Given the description of an element on the screen output the (x, y) to click on. 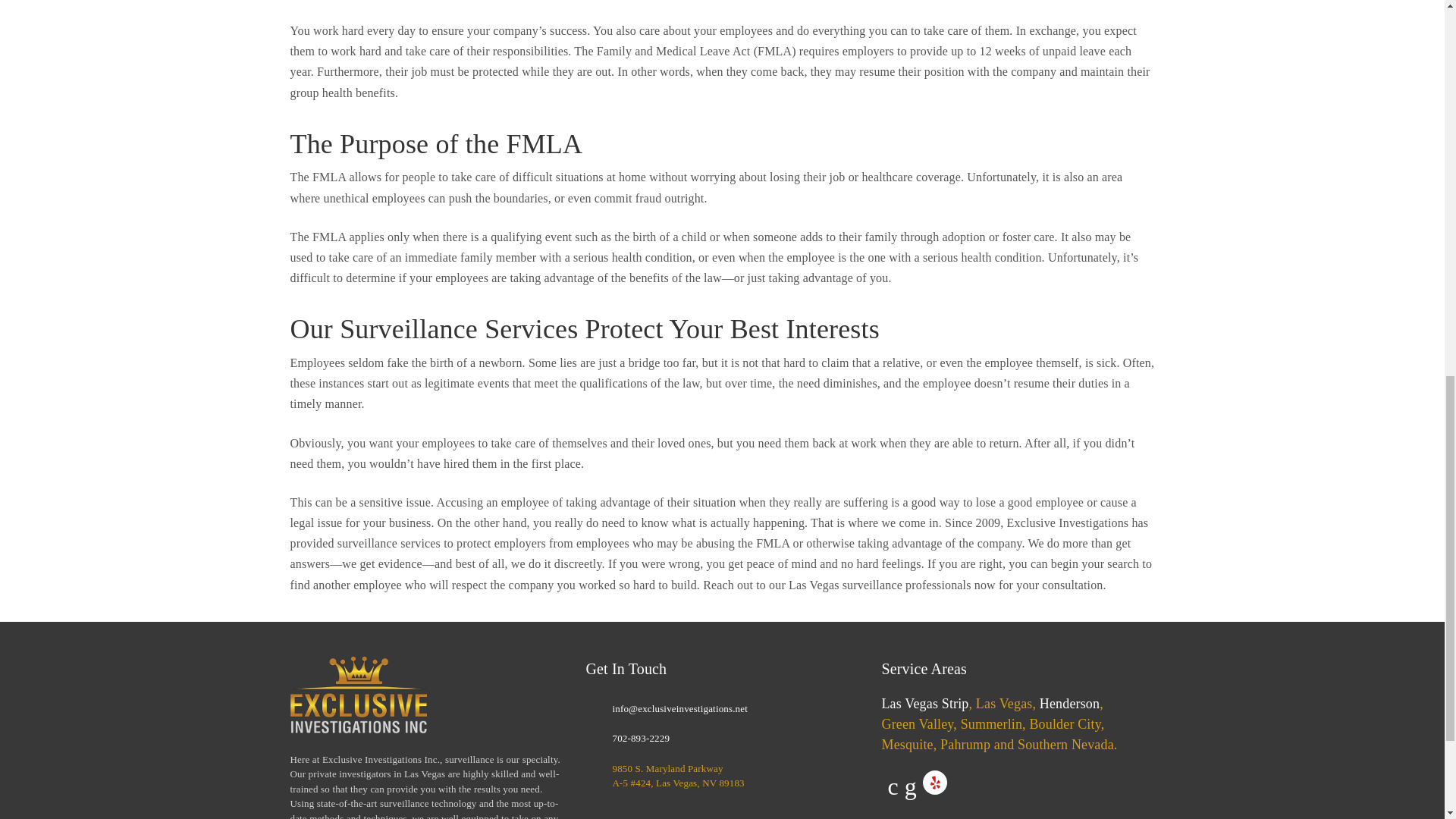
Las Vegas Strip (924, 703)
702-893-2229 (640, 738)
Henderson (1069, 703)
